Given the description of an element on the screen output the (x, y) to click on. 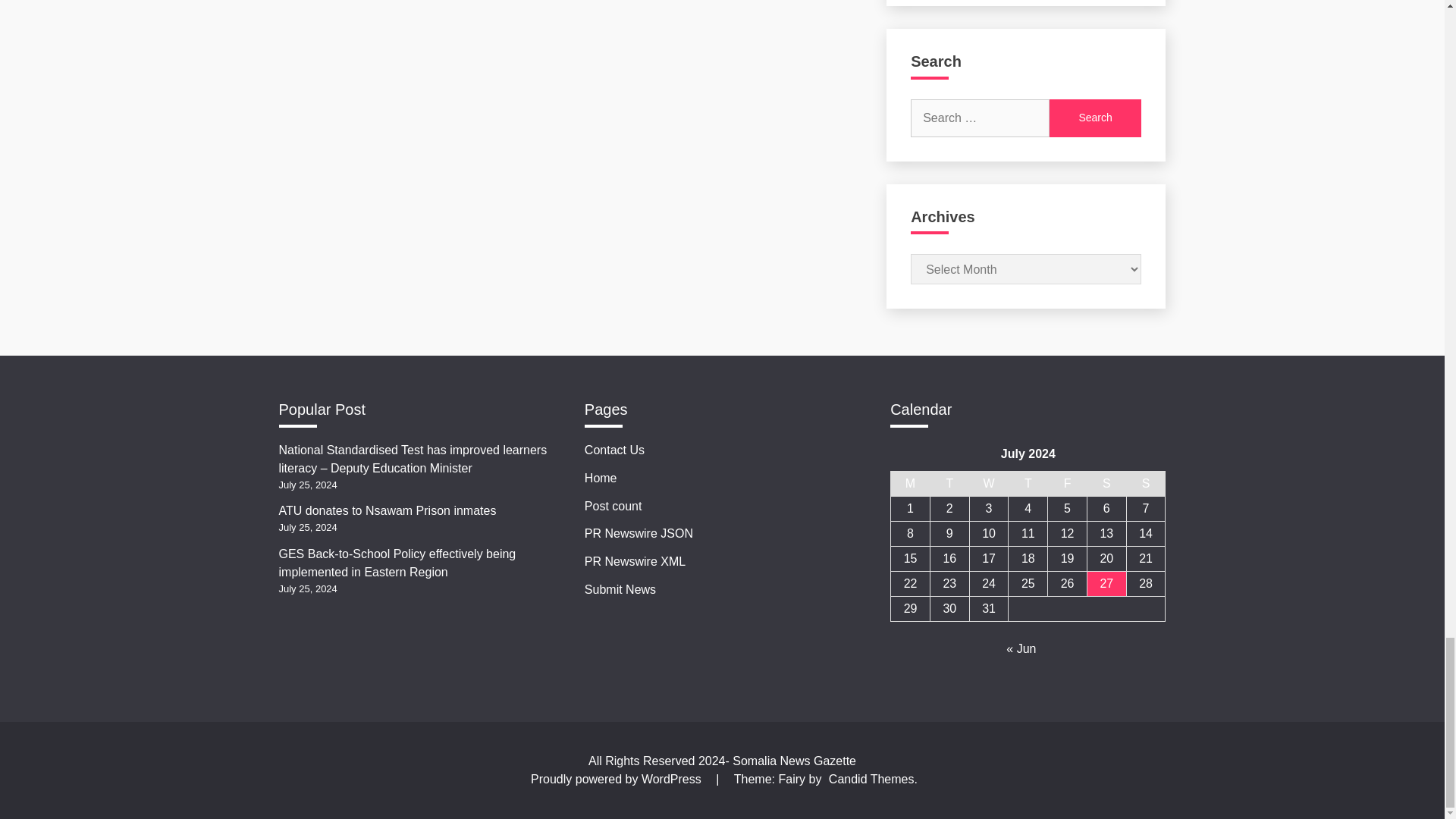
Search (1095, 118)
Search (1095, 118)
Thursday (1028, 483)
Monday (910, 483)
Wednesday (989, 483)
Tuesday (949, 483)
